Given the description of an element on the screen output the (x, y) to click on. 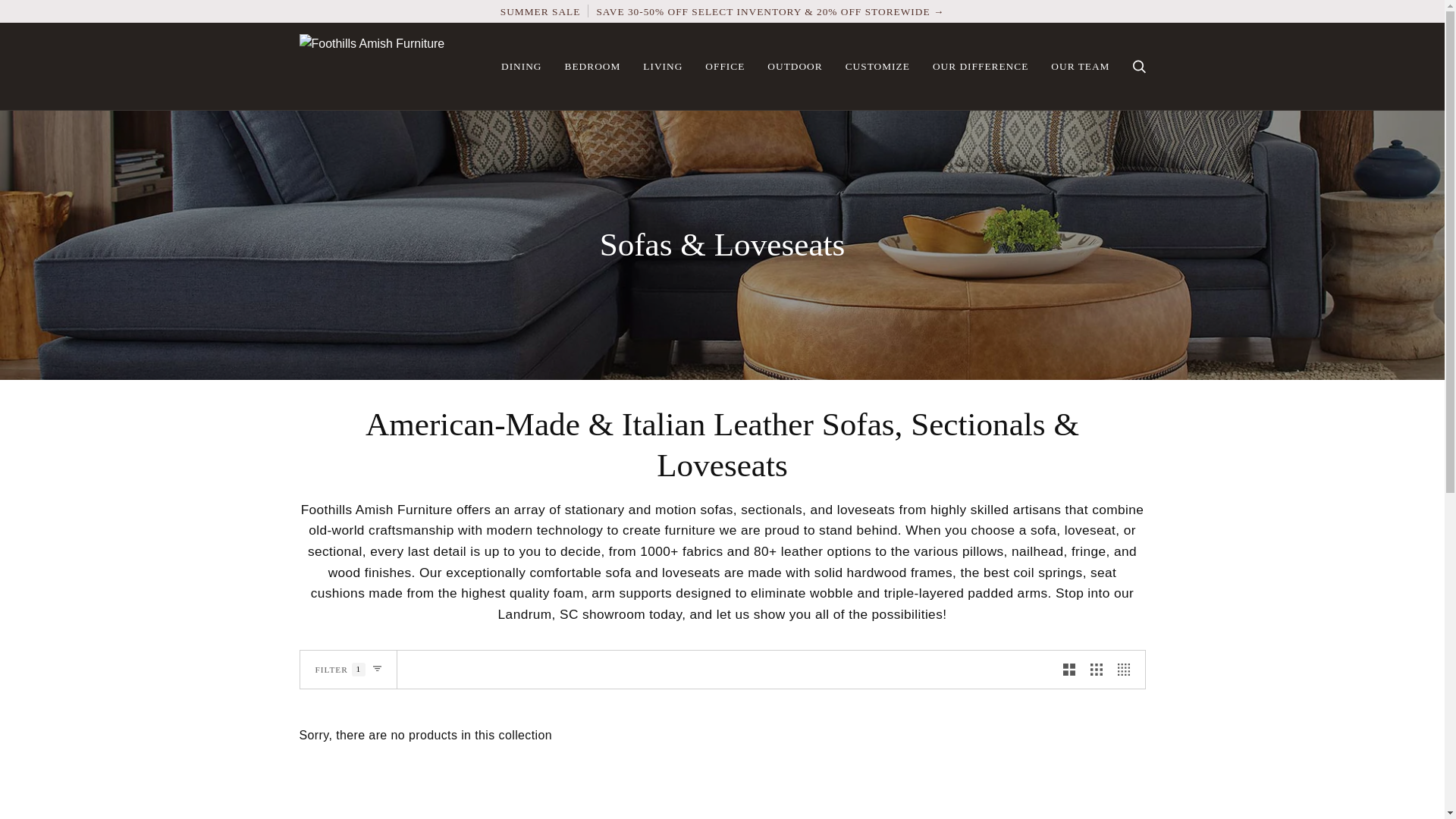
BEDROOM (592, 65)
